Given the description of an element on the screen output the (x, y) to click on. 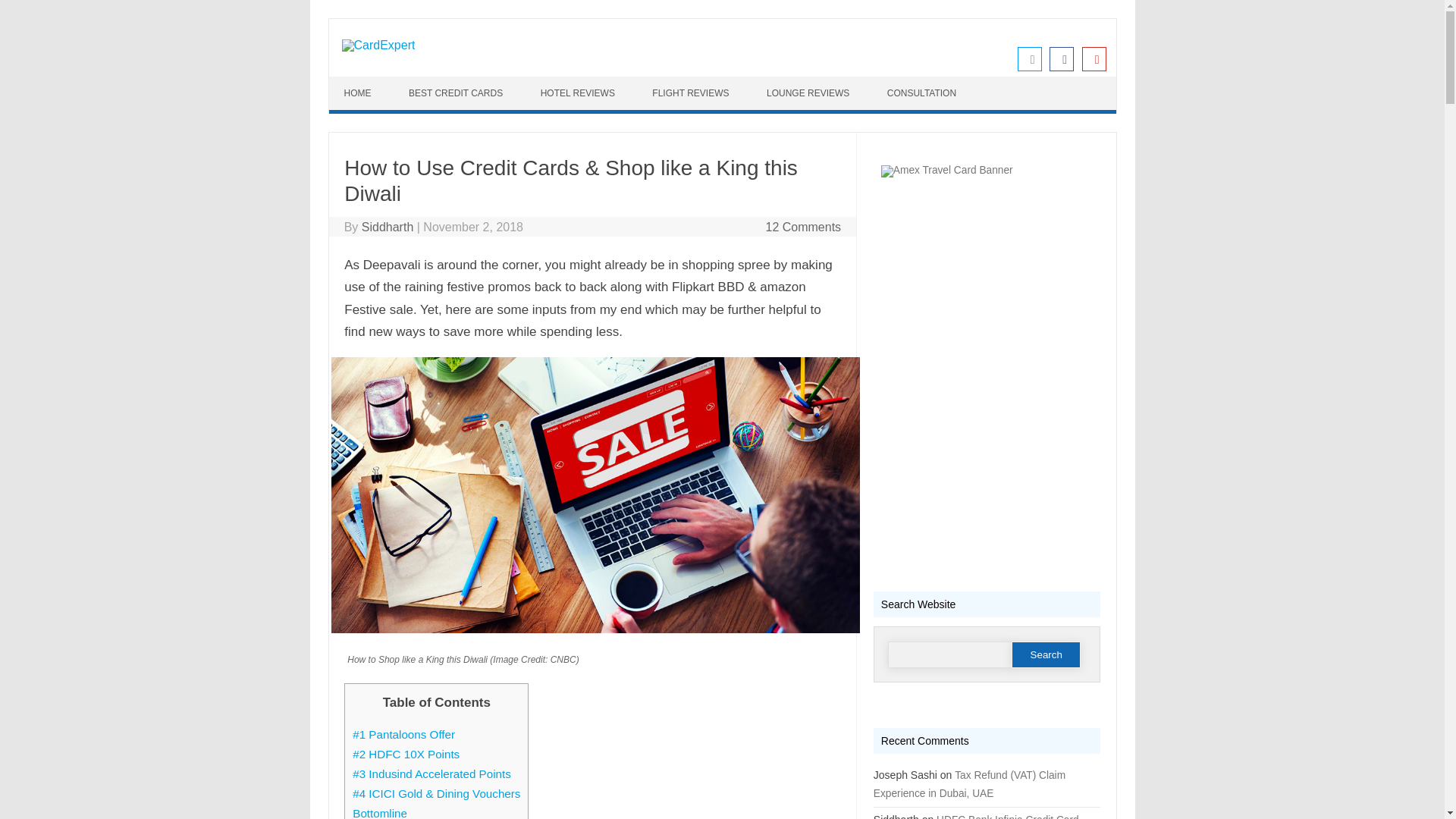
Skip to content (369, 82)
12 Comments (803, 226)
Skip to content (369, 82)
HOTEL REVIEWS (579, 92)
Bottomline (379, 812)
LOUNGE REVIEWS (809, 92)
Posts by Siddharth (387, 226)
CardExpert (377, 44)
Siddharth (387, 226)
FLIGHT REVIEWS (692, 92)
HOME (359, 92)
Search (1045, 654)
BEST CREDIT CARDS (457, 92)
CONSULTATION (923, 92)
